Given the description of an element on the screen output the (x, y) to click on. 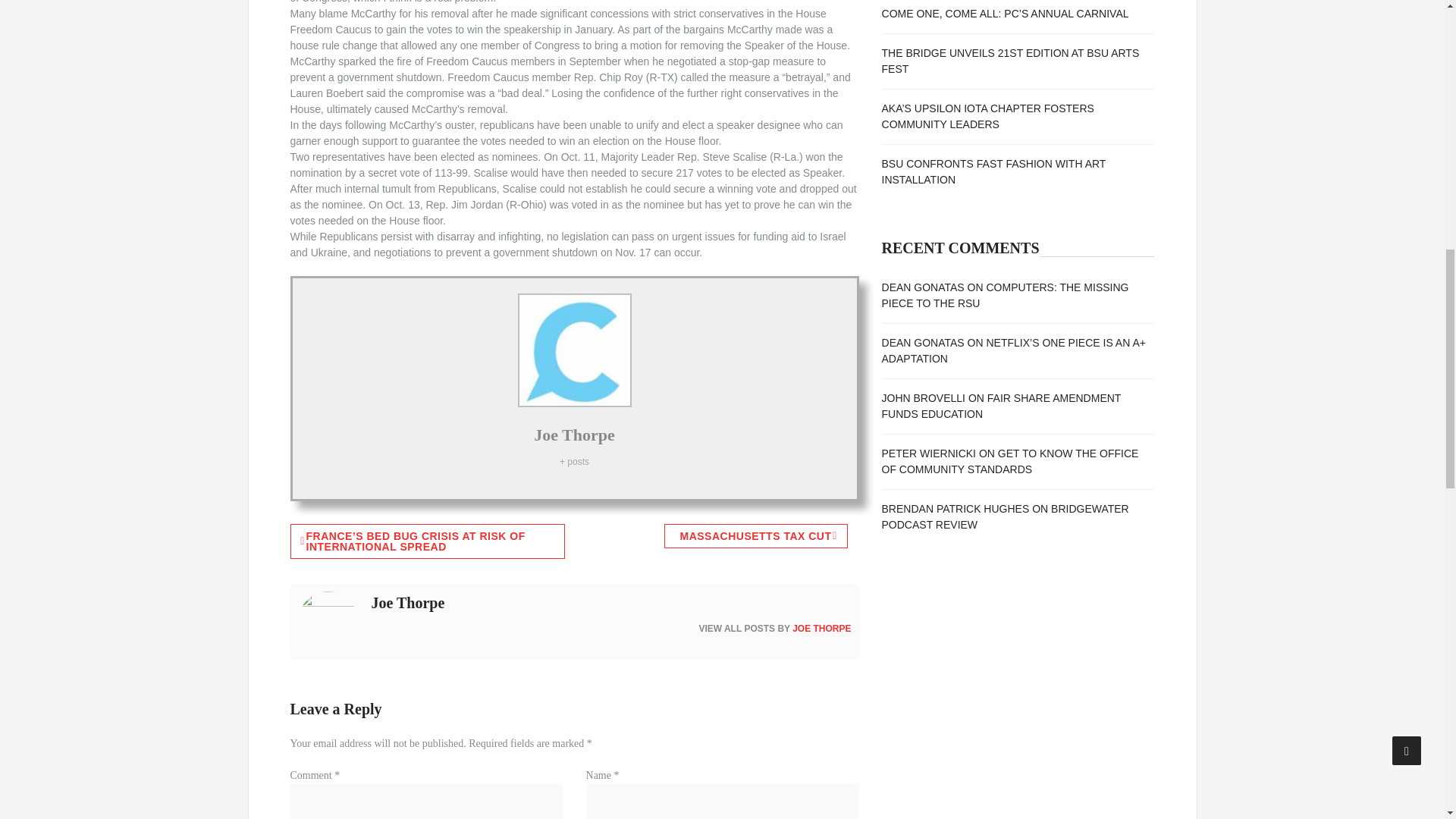
JOE THORPE (821, 628)
Joe Thorpe (574, 434)
MASSACHUSETTS TAX CUT (755, 535)
